Given the description of an element on the screen output the (x, y) to click on. 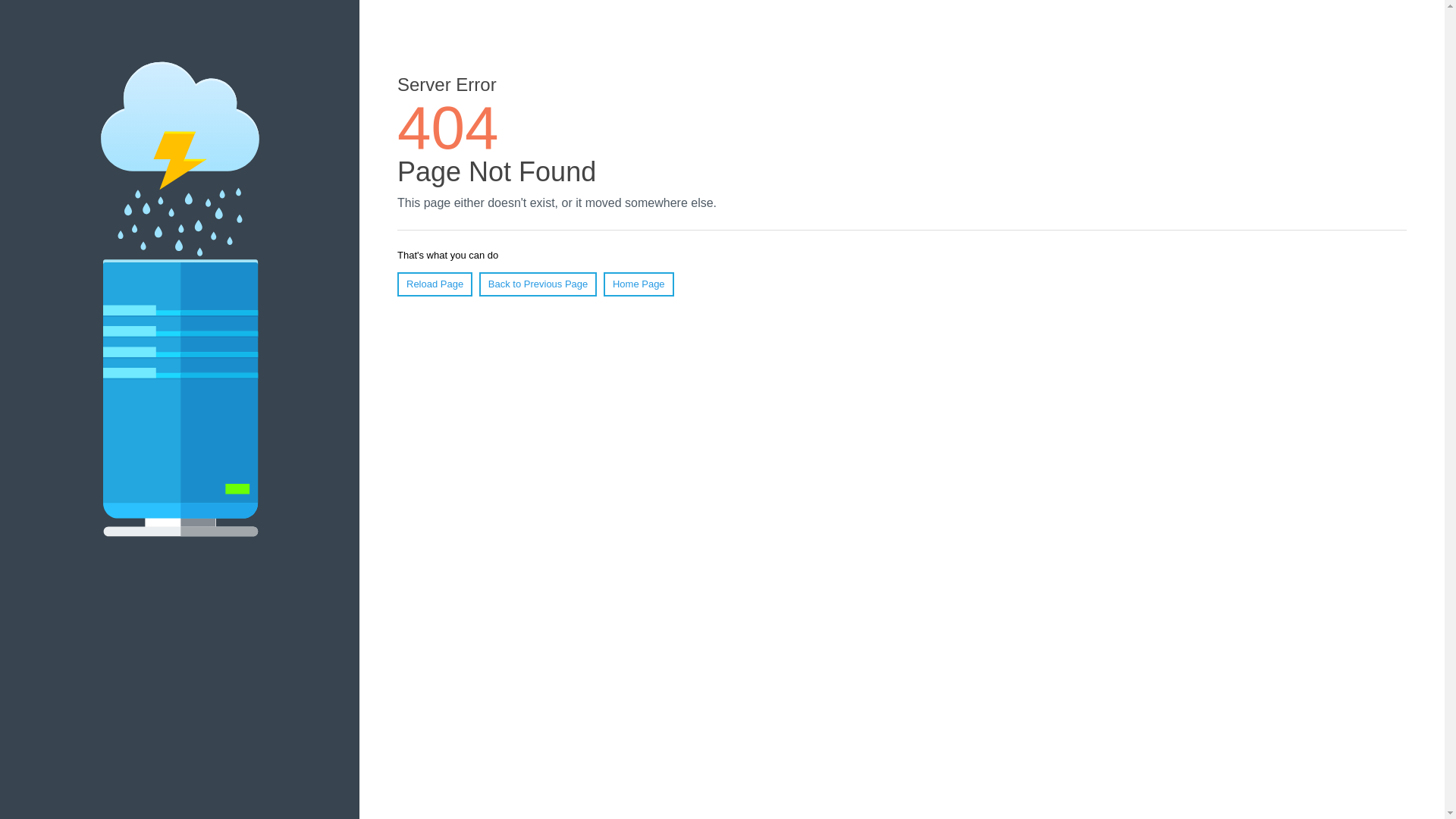
Reload Page Element type: text (434, 284)
Back to Previous Page Element type: text (538, 284)
Home Page Element type: text (638, 284)
